Given the description of an element on the screen output the (x, y) to click on. 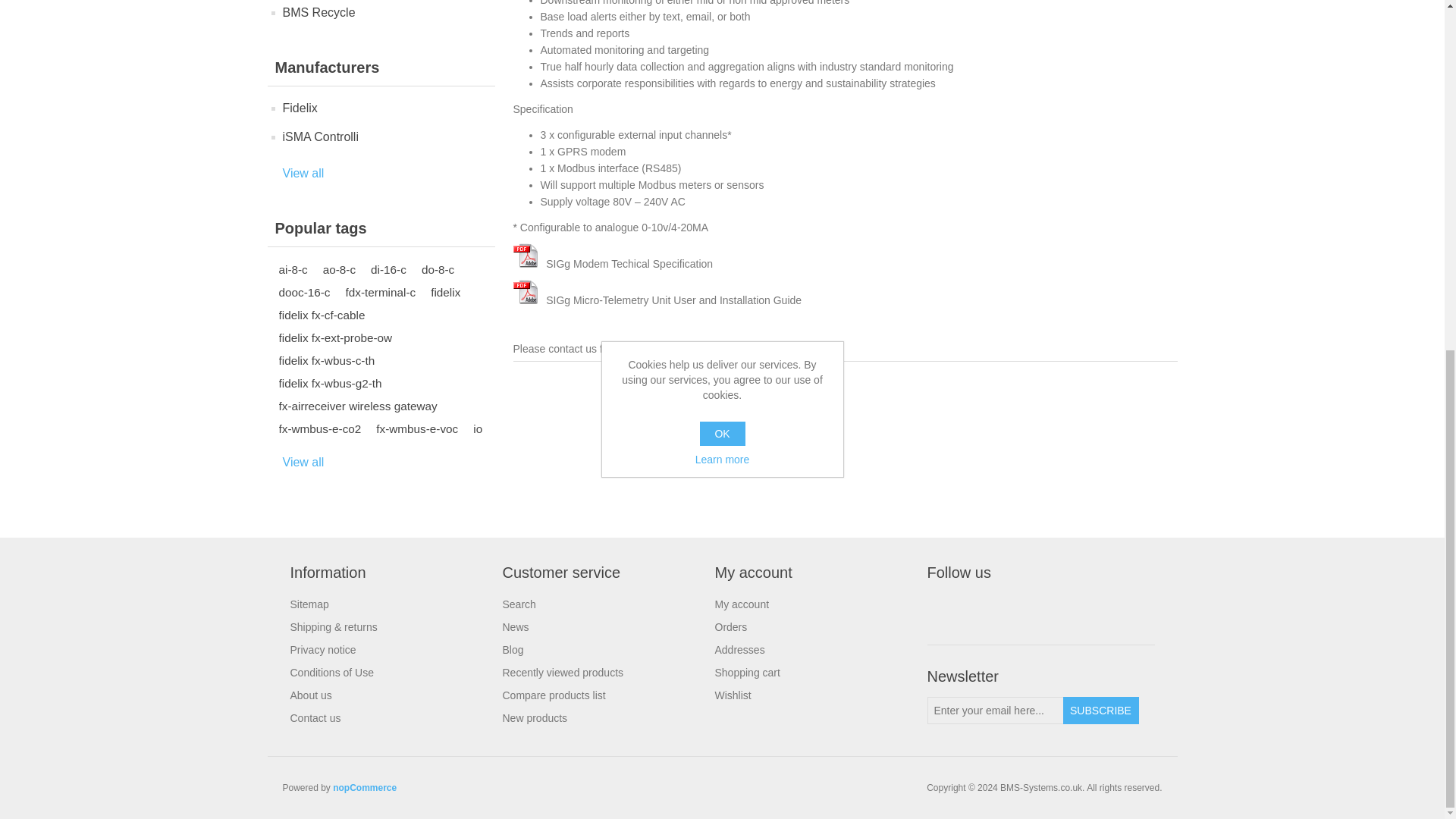
Subscribe (1100, 709)
